Given the description of an element on the screen output the (x, y) to click on. 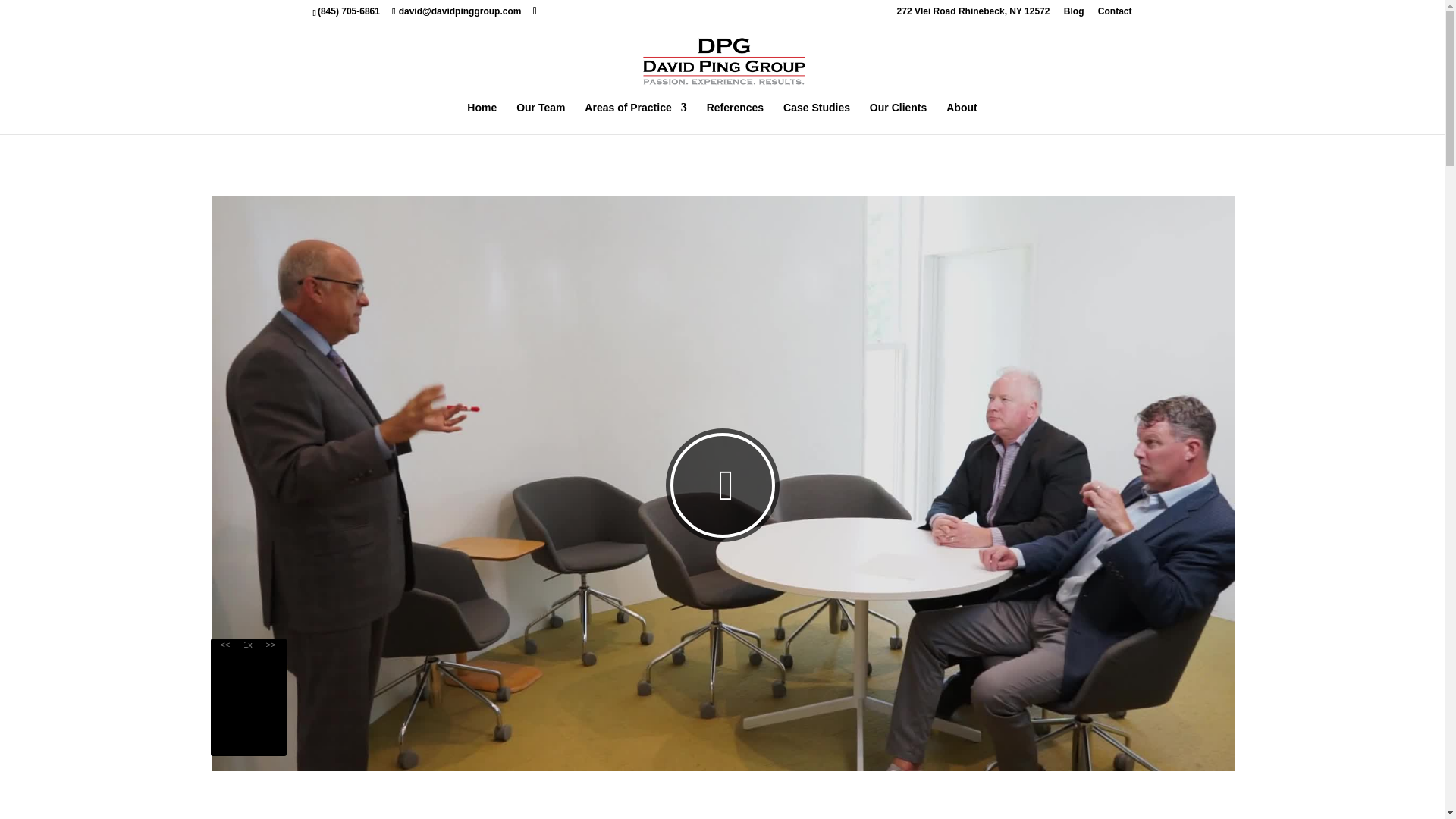
Contact (1114, 14)
Our Clients (897, 118)
References (735, 118)
About (961, 118)
Our Team (540, 118)
Home (481, 118)
Case Studies (816, 118)
272 Vlei Road Rhinebeck, NY 12572 (972, 14)
Areas of Practice (635, 118)
Blog (1074, 14)
